Given the description of an element on the screen output the (x, y) to click on. 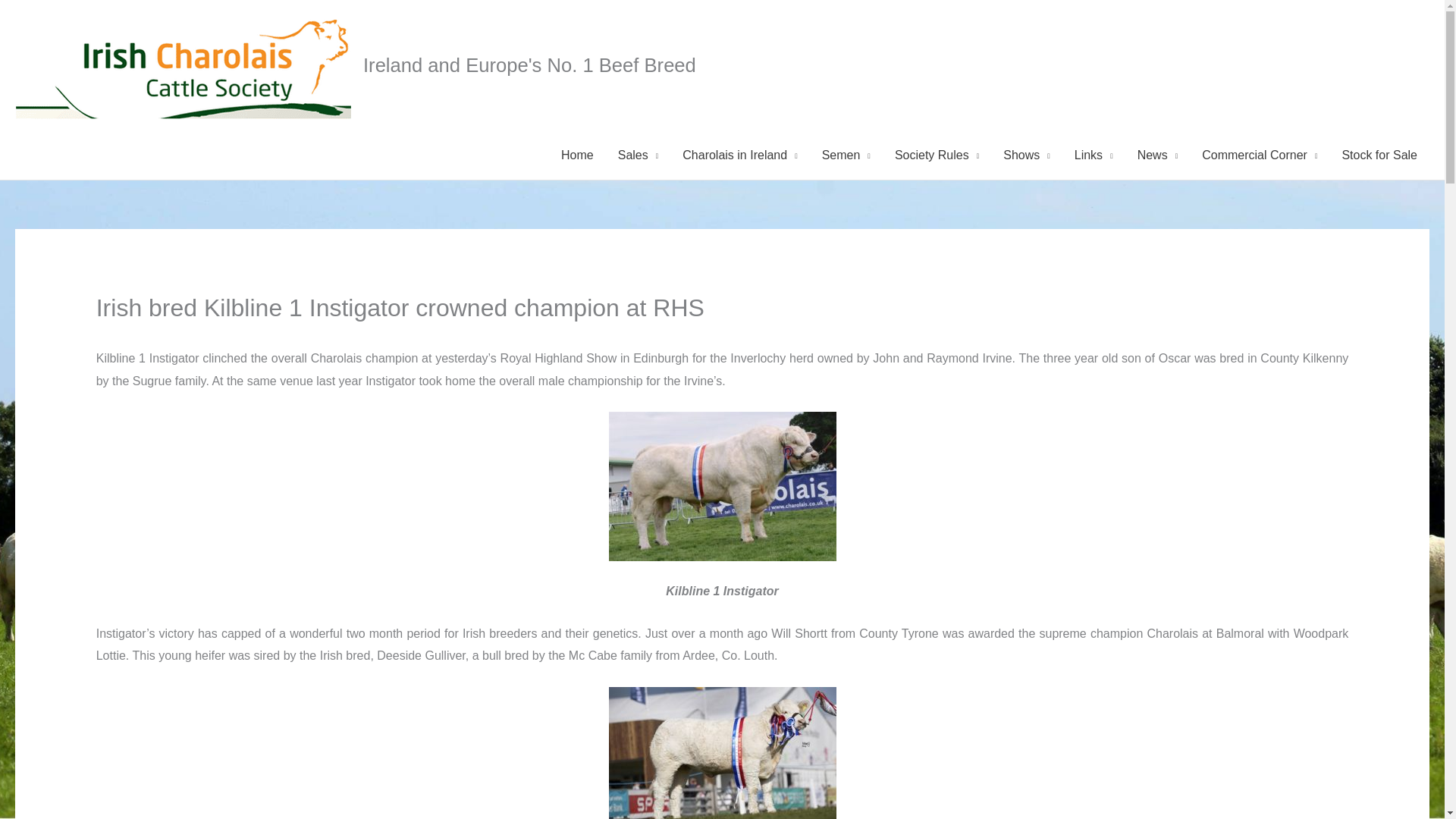
Sales (638, 155)
Charolais in Ireland (739, 155)
Semen (845, 155)
Home (576, 155)
Society Rules (936, 155)
